Given the description of an element on the screen output the (x, y) to click on. 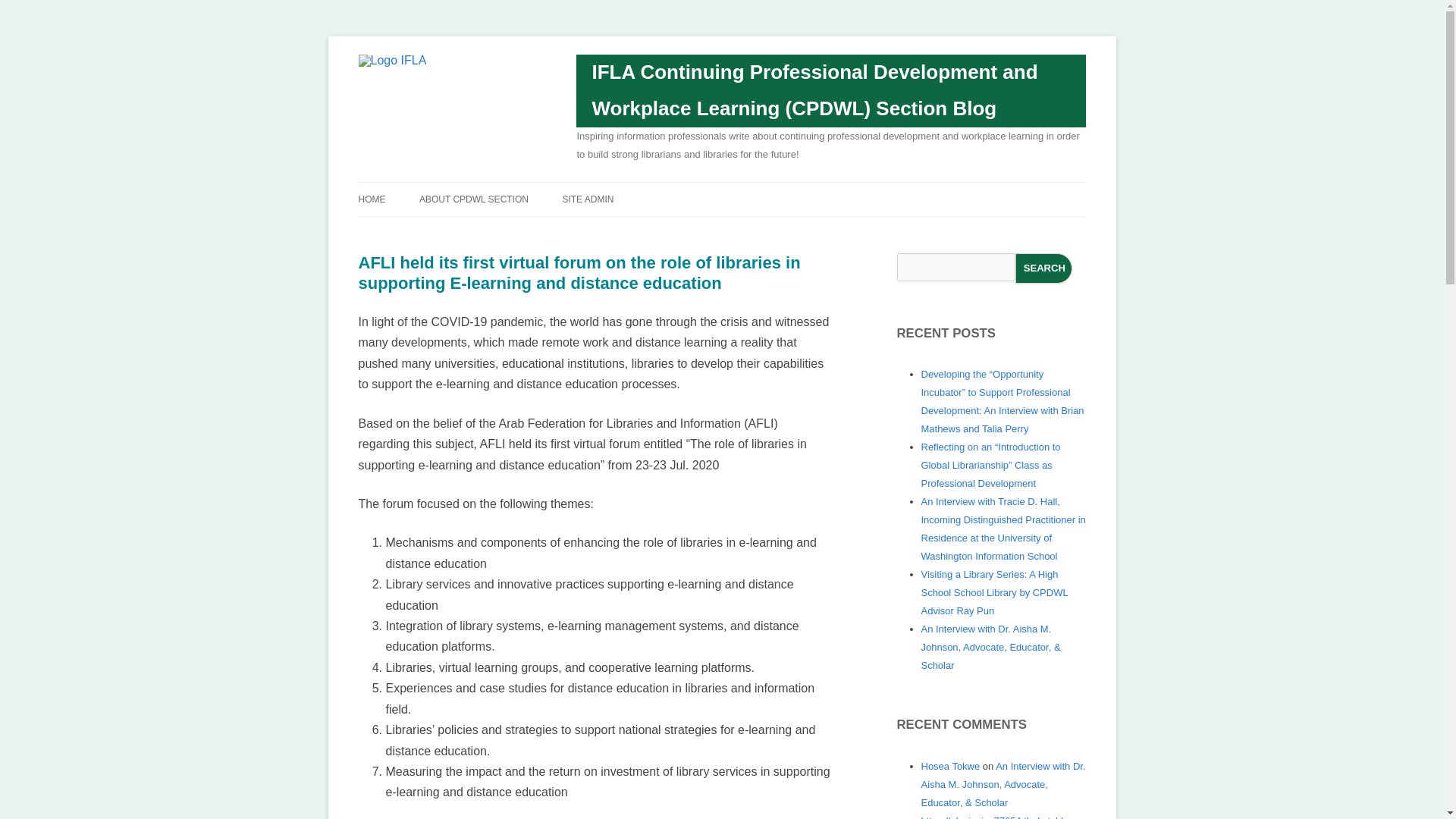
Search (1042, 268)
Hosea Tokwe (949, 766)
ABOUT CPDWL SECTION (473, 199)
Search (1042, 268)
SITE ADMIN (587, 199)
